Given the description of an element on the screen output the (x, y) to click on. 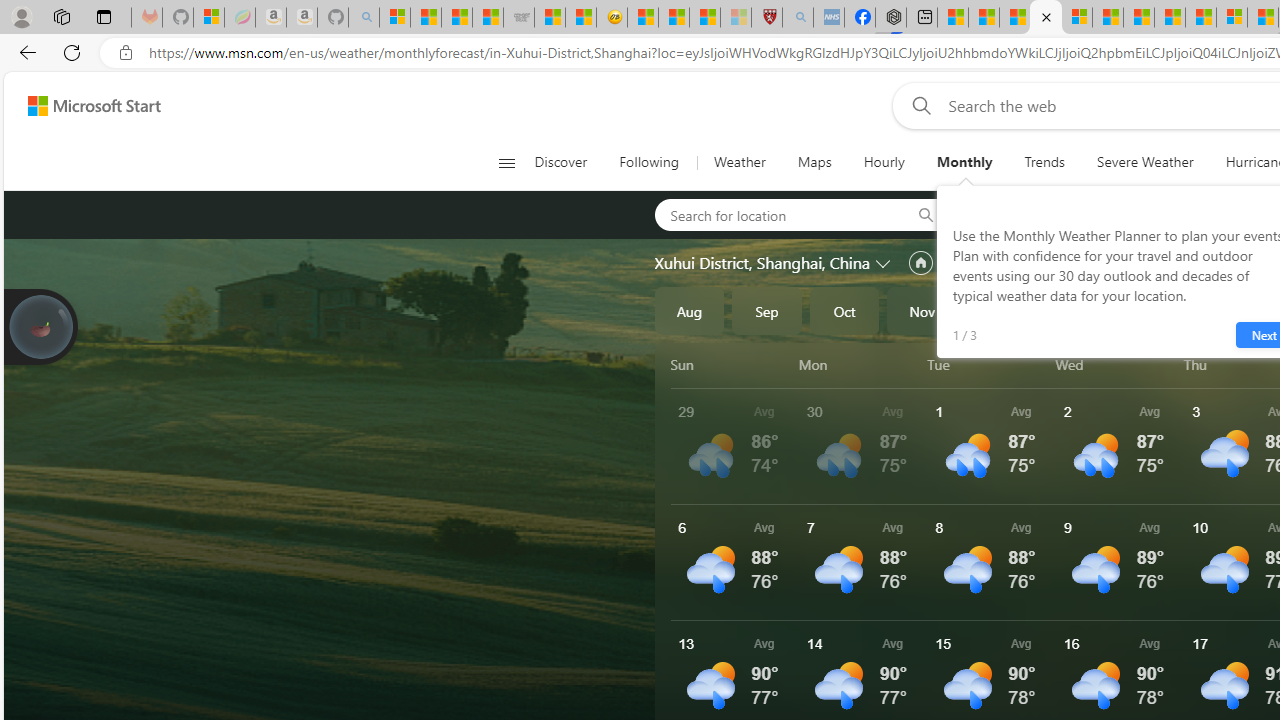
Microsoft-Report a Concern to Bing (208, 17)
Search for location (776, 214)
